Given the description of an element on the screen output the (x, y) to click on. 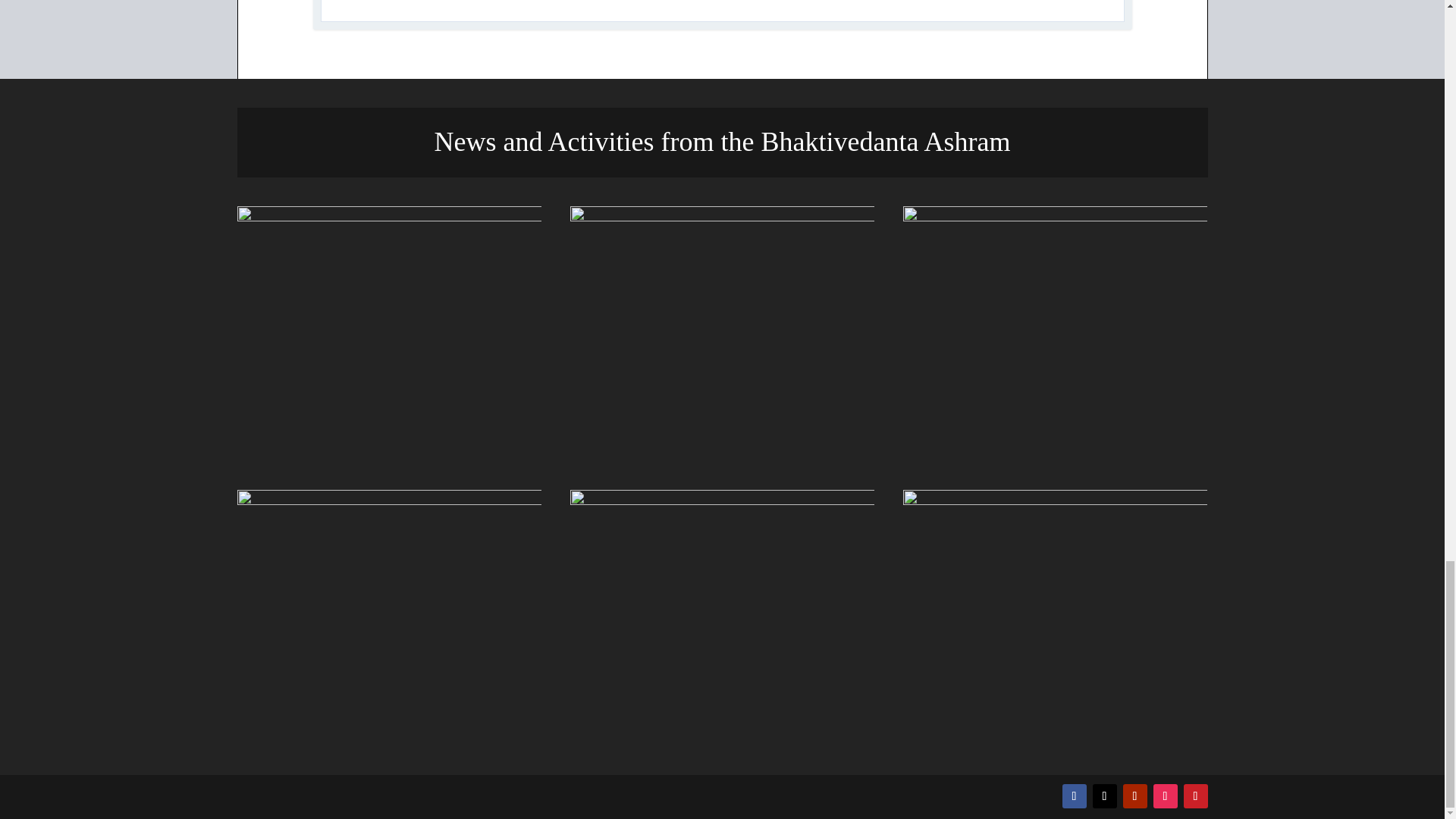
footer-01 (387, 333)
footer-04 (387, 616)
footer-03 (1054, 333)
footer-02 (722, 333)
